Given the description of an element on the screen output the (x, y) to click on. 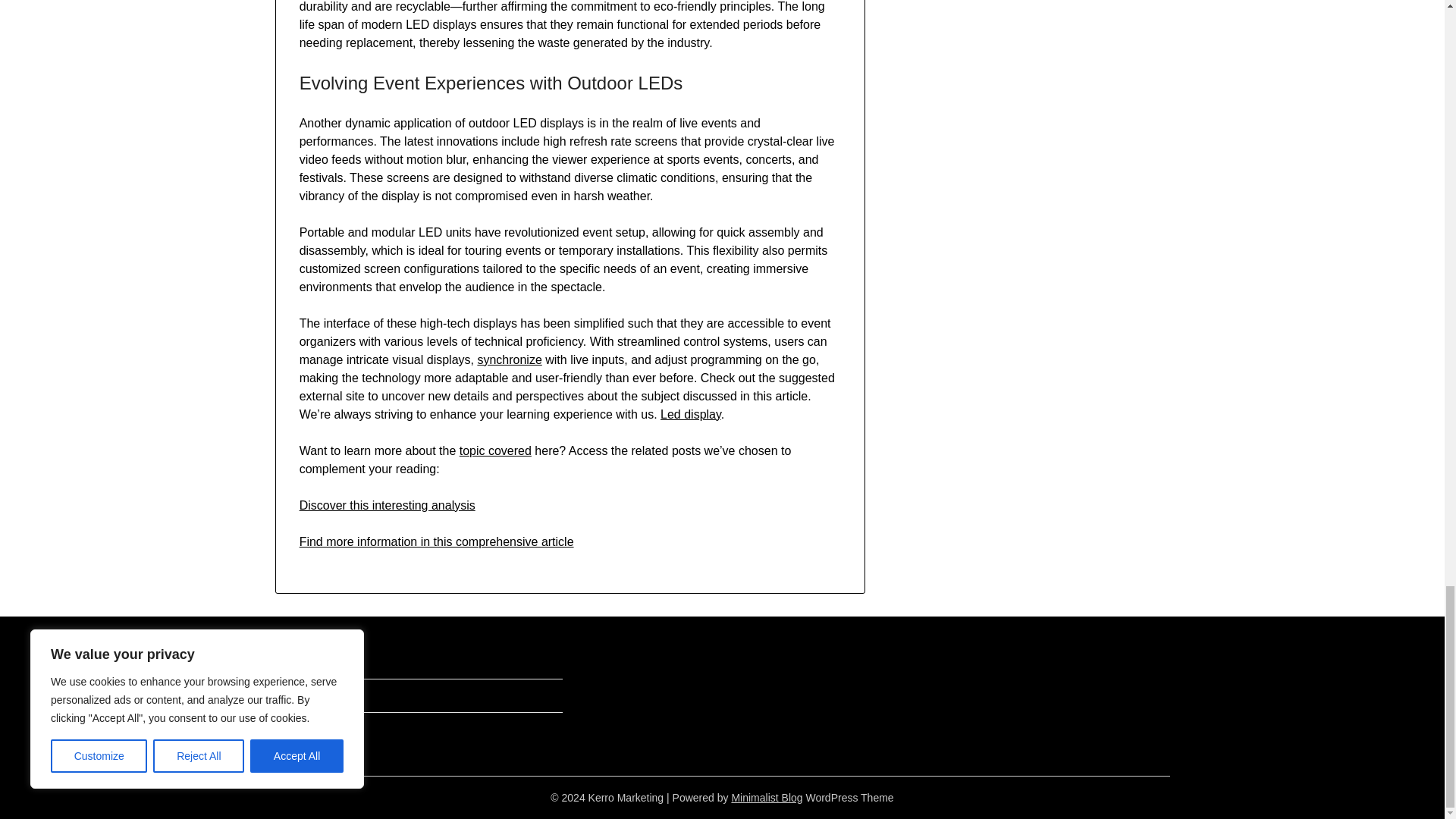
Find more information in this comprehensive article (436, 541)
Discover this interesting analysis (387, 504)
topic covered (495, 450)
synchronize (509, 359)
Led display (690, 413)
